Given the description of an element on the screen output the (x, y) to click on. 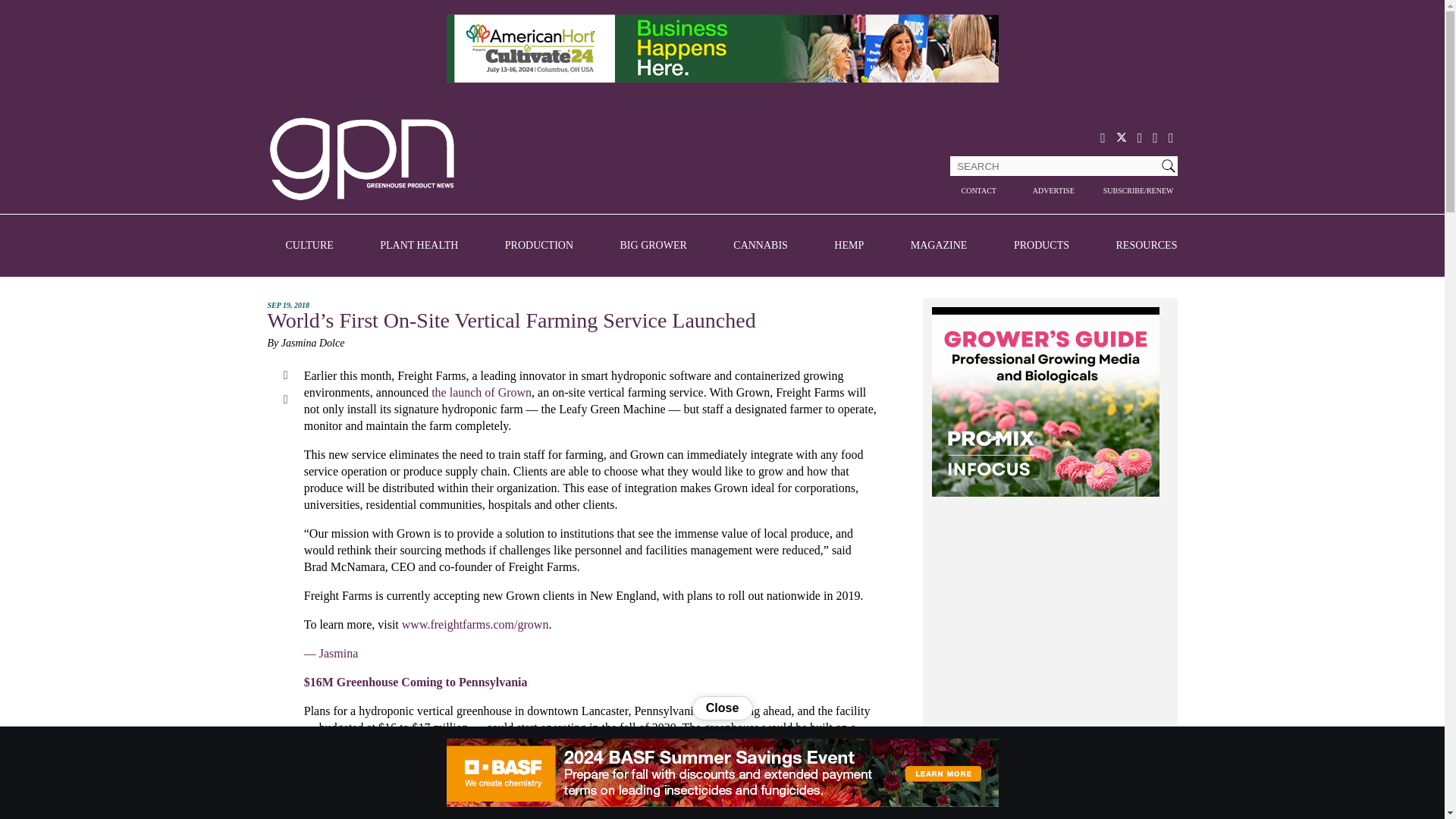
HEMP (848, 245)
CULTURE (309, 245)
ADVERTISE (1053, 190)
CANNABIS (760, 245)
BIG GROWER (653, 245)
Premier Tech Horticulture (1044, 404)
PLANT HEALTH (419, 245)
PRODUCTION (539, 245)
AmericanHort (721, 50)
CONTACT (977, 190)
